Given the description of an element on the screen output the (x, y) to click on. 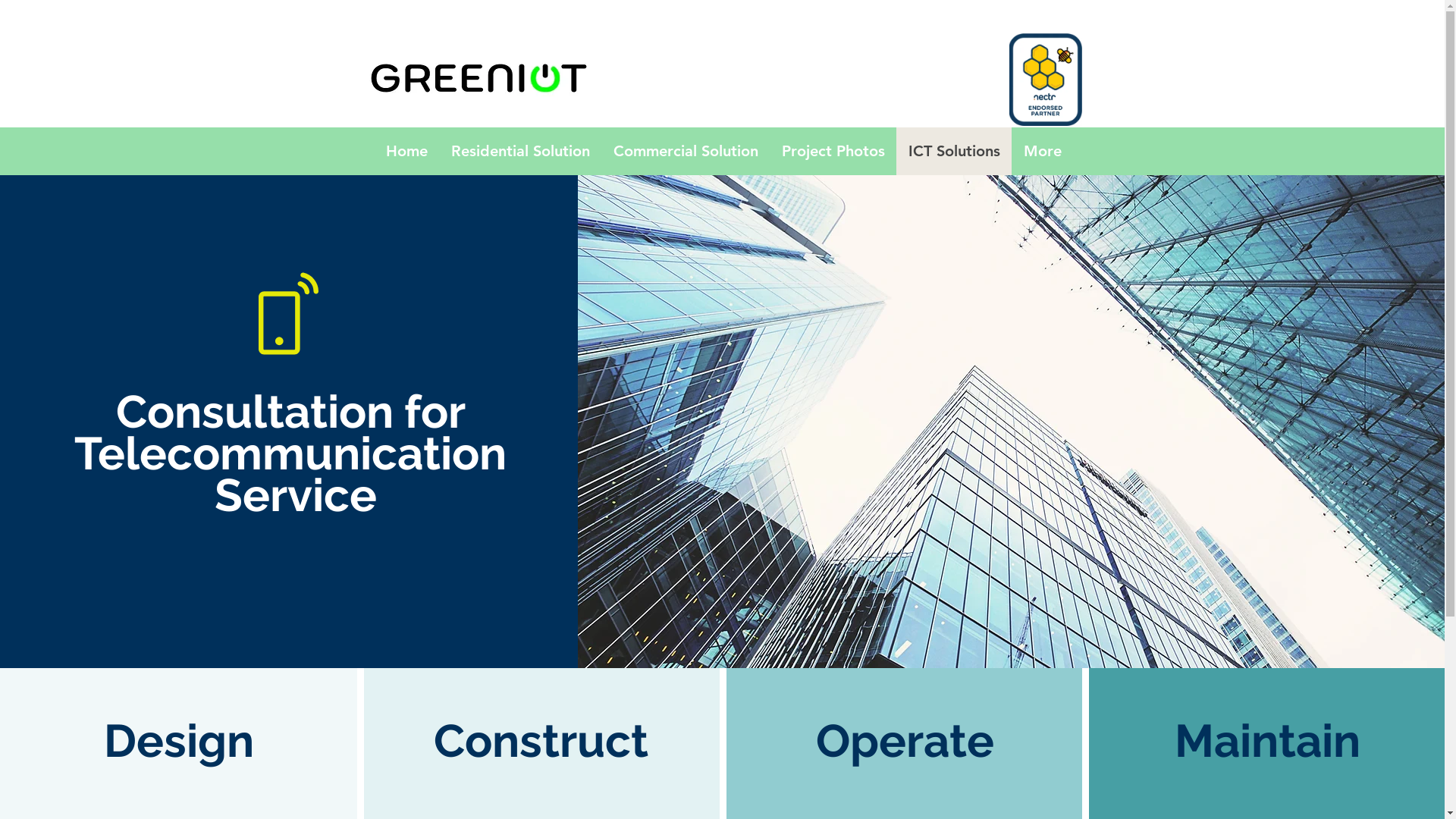
Residential Solution Element type: text (519, 151)
Commercial Solution Element type: text (684, 151)
Home Element type: text (405, 151)
ICT Solutions Element type: text (953, 151)
Project Photos Element type: text (831, 151)
